Given the description of an element on the screen output the (x, y) to click on. 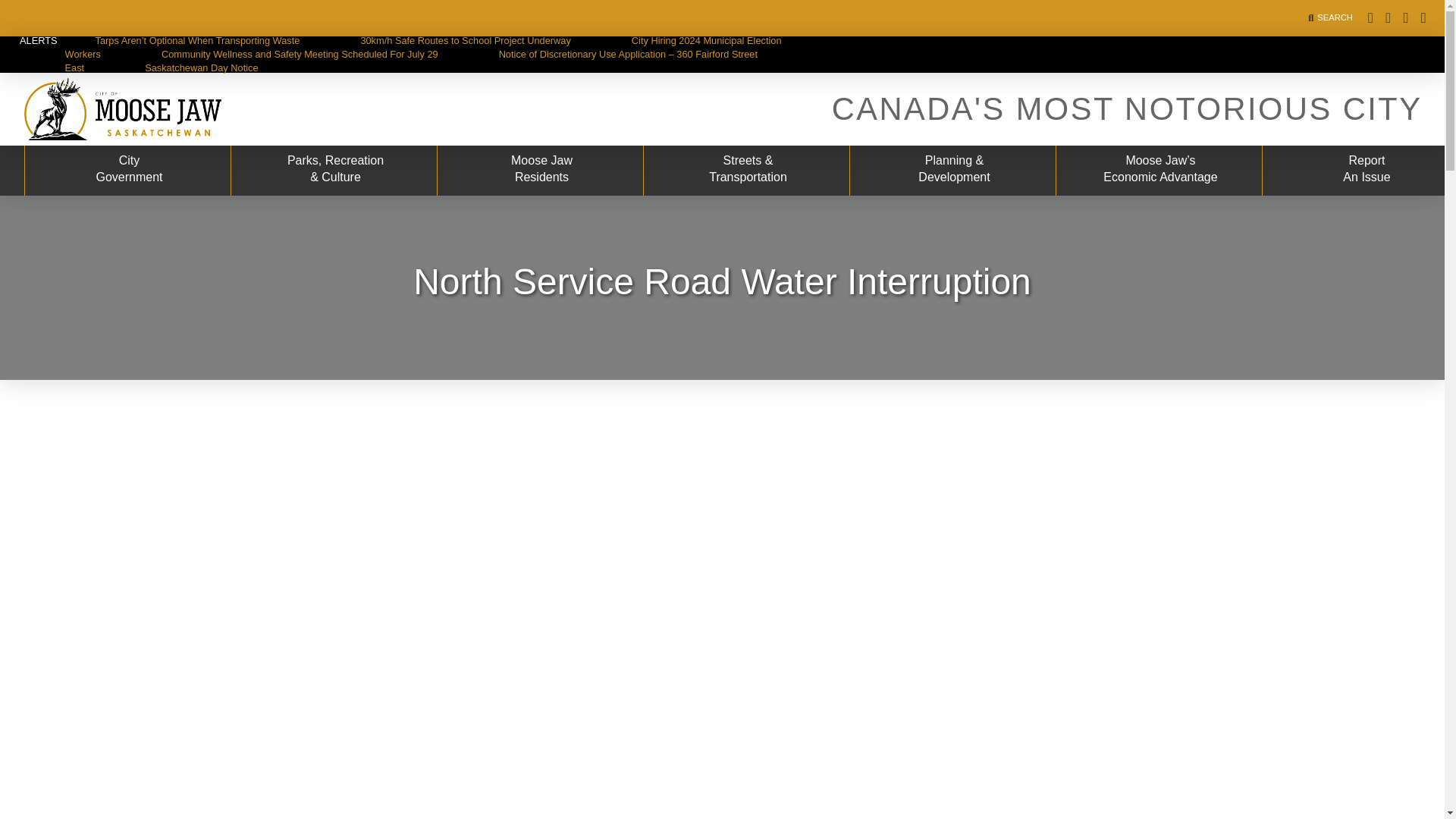
City Hiring 2024 Municipal Election Workers (540, 170)
CANADA'S MOST NOTORIOUS CITY (423, 47)
Saskatchewan Day Notice (1359, 170)
Community Wellness and Safety Meeting Scheduled For July 29 (1126, 108)
